Given the description of an element on the screen output the (x, y) to click on. 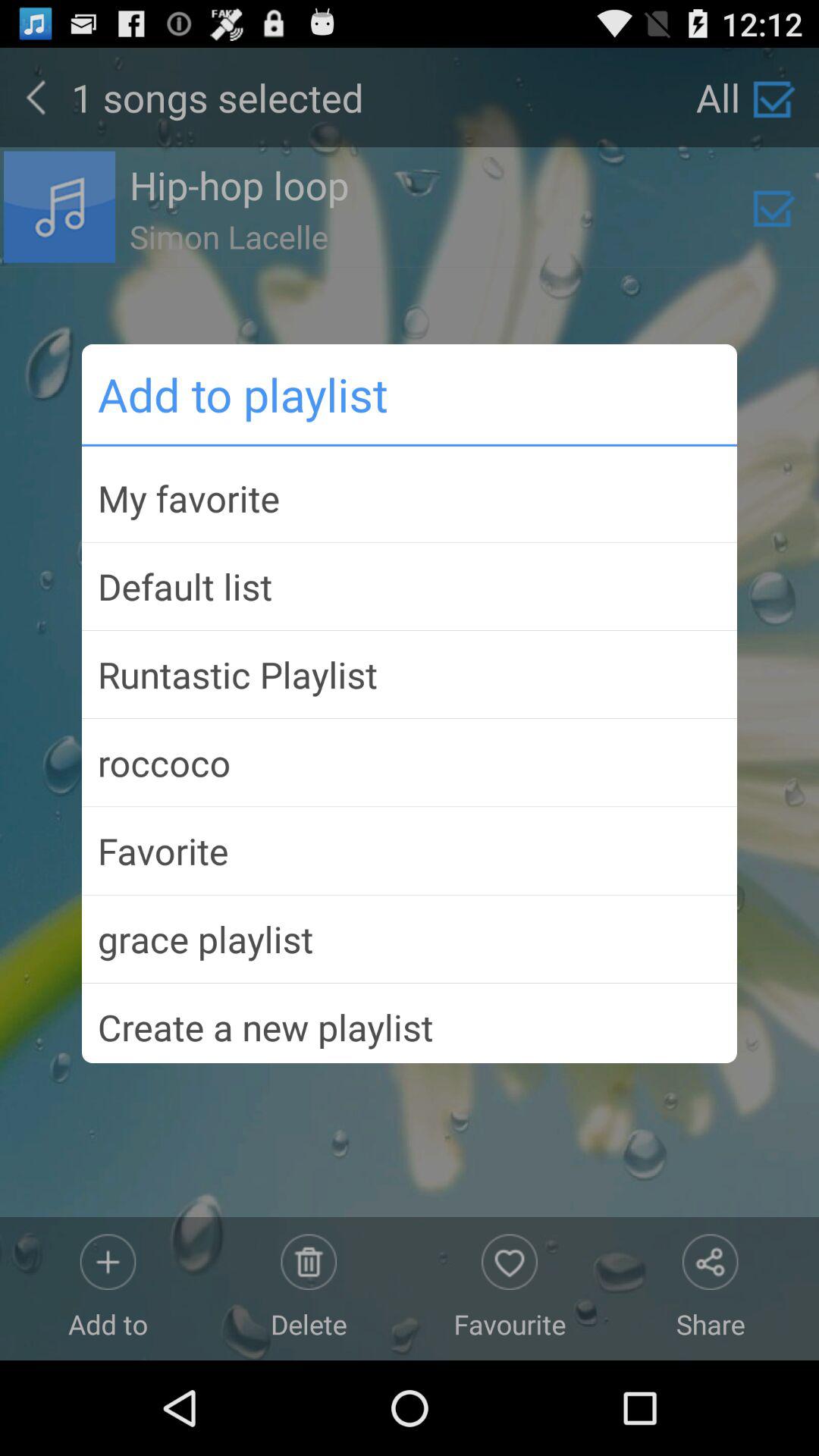
open the default list icon (409, 586)
